Given the description of an element on the screen output the (x, y) to click on. 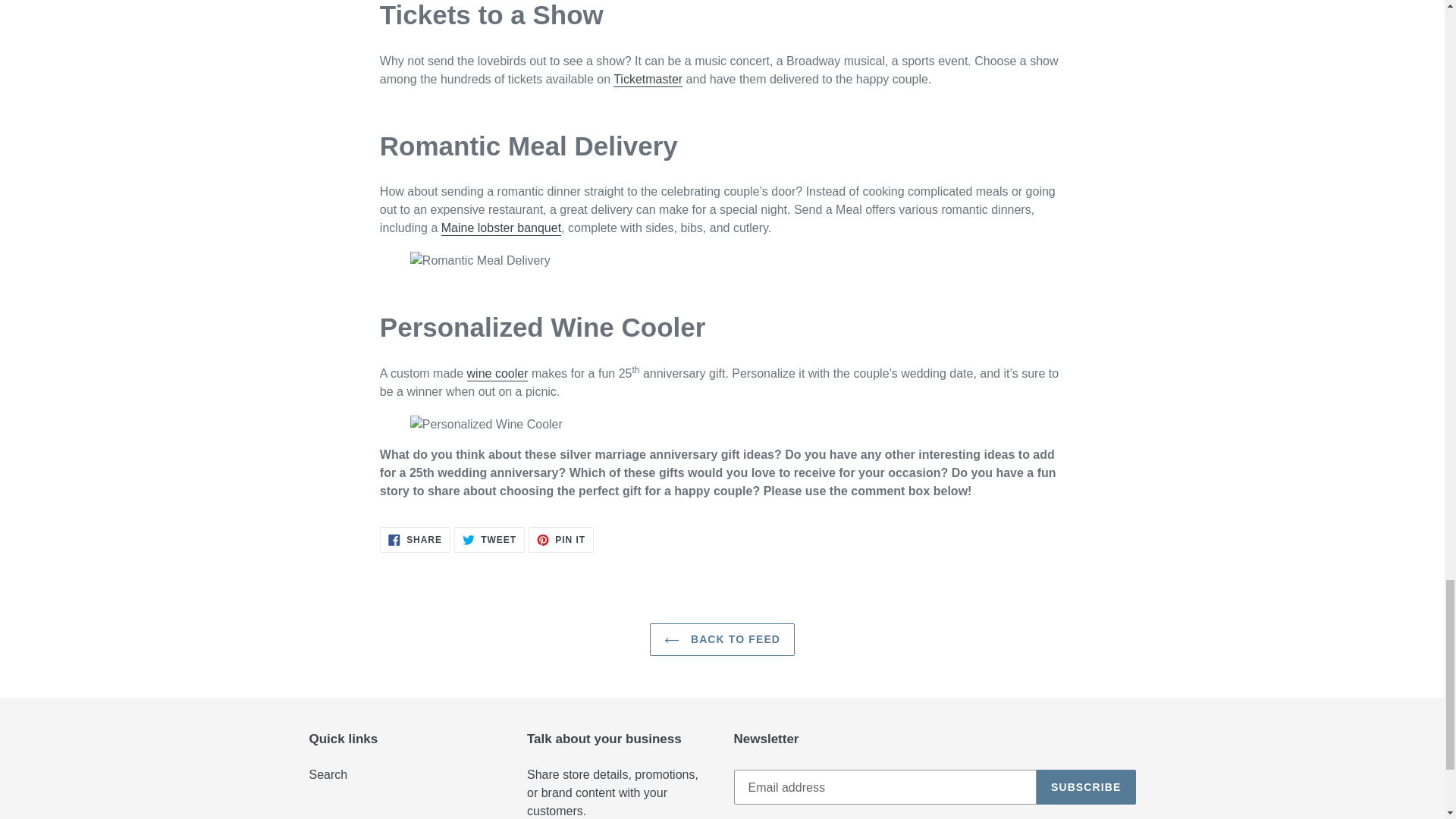
wine cooler (497, 373)
BACK TO FEED (721, 639)
Search (327, 774)
Maine lobster banquet (561, 539)
Ticketmaster (500, 228)
SUBSCRIBE (414, 539)
